Given the description of an element on the screen output the (x, y) to click on. 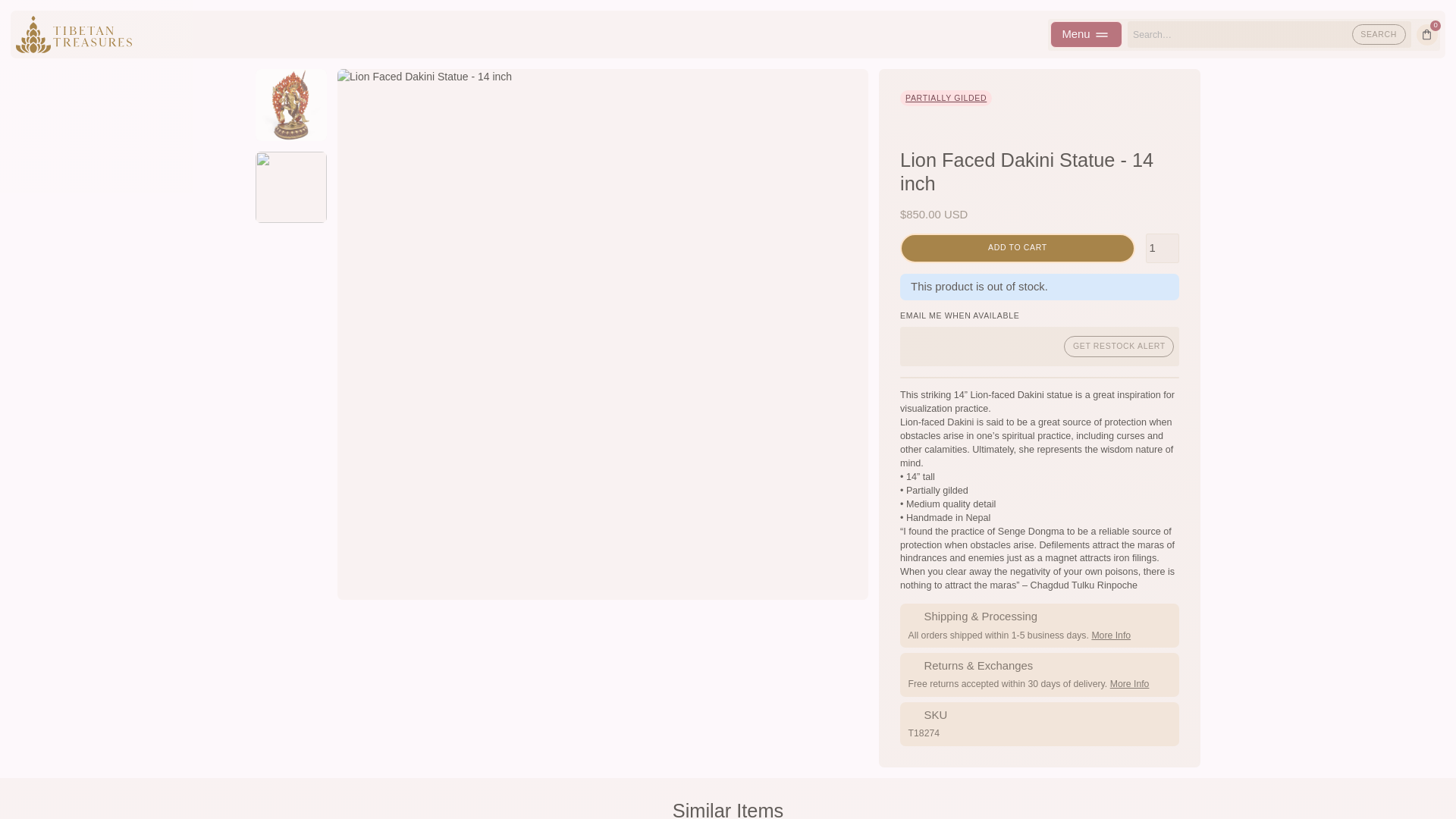
Get Restock Alert (1118, 345)
Add to Cart (1017, 247)
1 (1162, 247)
Search (1379, 34)
